Given the description of an element on the screen output the (x, y) to click on. 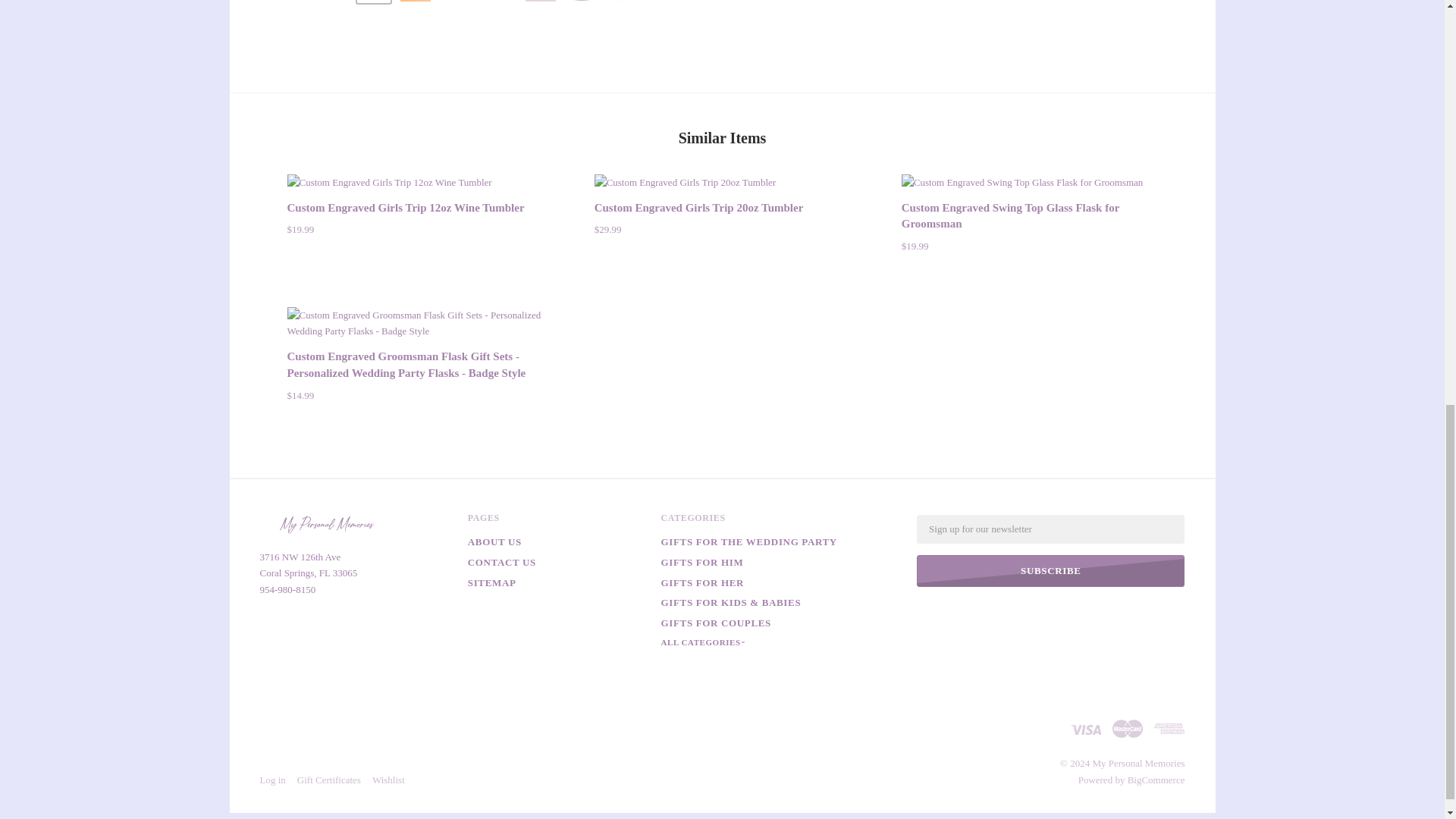
Custom Engraved Girls Trip 20oz Tumbler  (685, 182)
Custom Engraved Girls Trip 6oz Flask (665, 0)
Custom Engraved Swing Top Glass Flask for Groomsman (1029, 182)
Custom Engraved Girls Trip 20oz Tumbler  (722, 182)
Subscribe (1051, 571)
Custom Engraved Girls Trip 6oz Flask (415, 0)
Custom Engraved Girls Trip 6oz Flask (498, 0)
Custom Engraved Girls Trip 12oz Wine Tumbler (414, 182)
Custom Engraved Girls Trip 6oz Flask (581, 0)
Custom Engraved Swing Top Glass Flask for Groomsman (1010, 215)
Custom Engraved Girls Trip 6oz Flask (373, 0)
Custom Engraved Girls Trip 20oz Tumbler  (698, 207)
Custom Engraved Girls Trip 6oz Flask (456, 0)
Custom Engraved Swing Top Glass Flask for Groomsman (1021, 182)
